Given the description of an element on the screen output the (x, y) to click on. 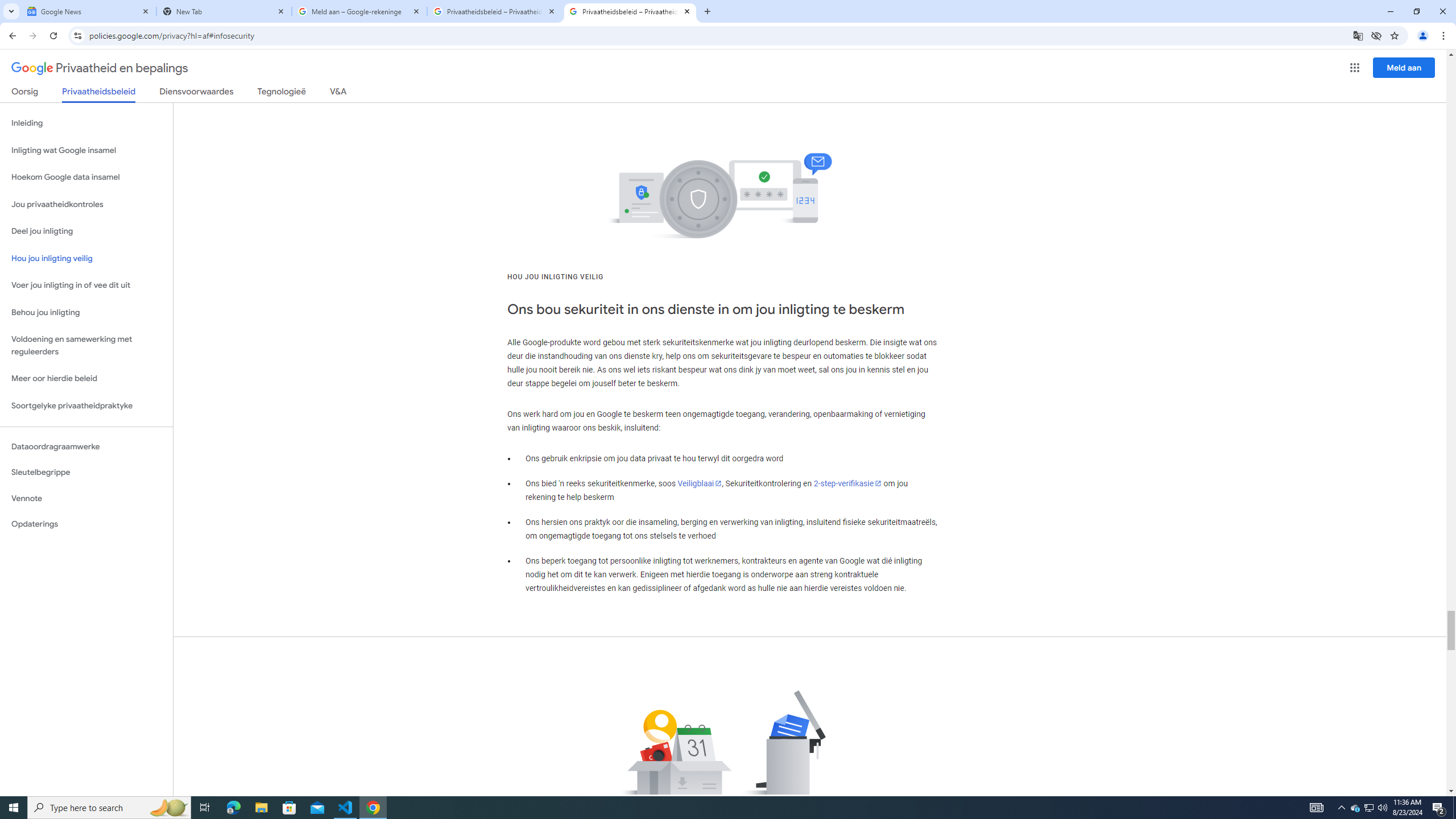
Privaatheid en bepalings (99, 68)
Deel jou inligting (86, 230)
Google News (88, 11)
Oorsig (25, 93)
Hoekom Google data insamel (86, 176)
Privaatheidsbeleid (98, 94)
